Given the description of an element on the screen output the (x, y) to click on. 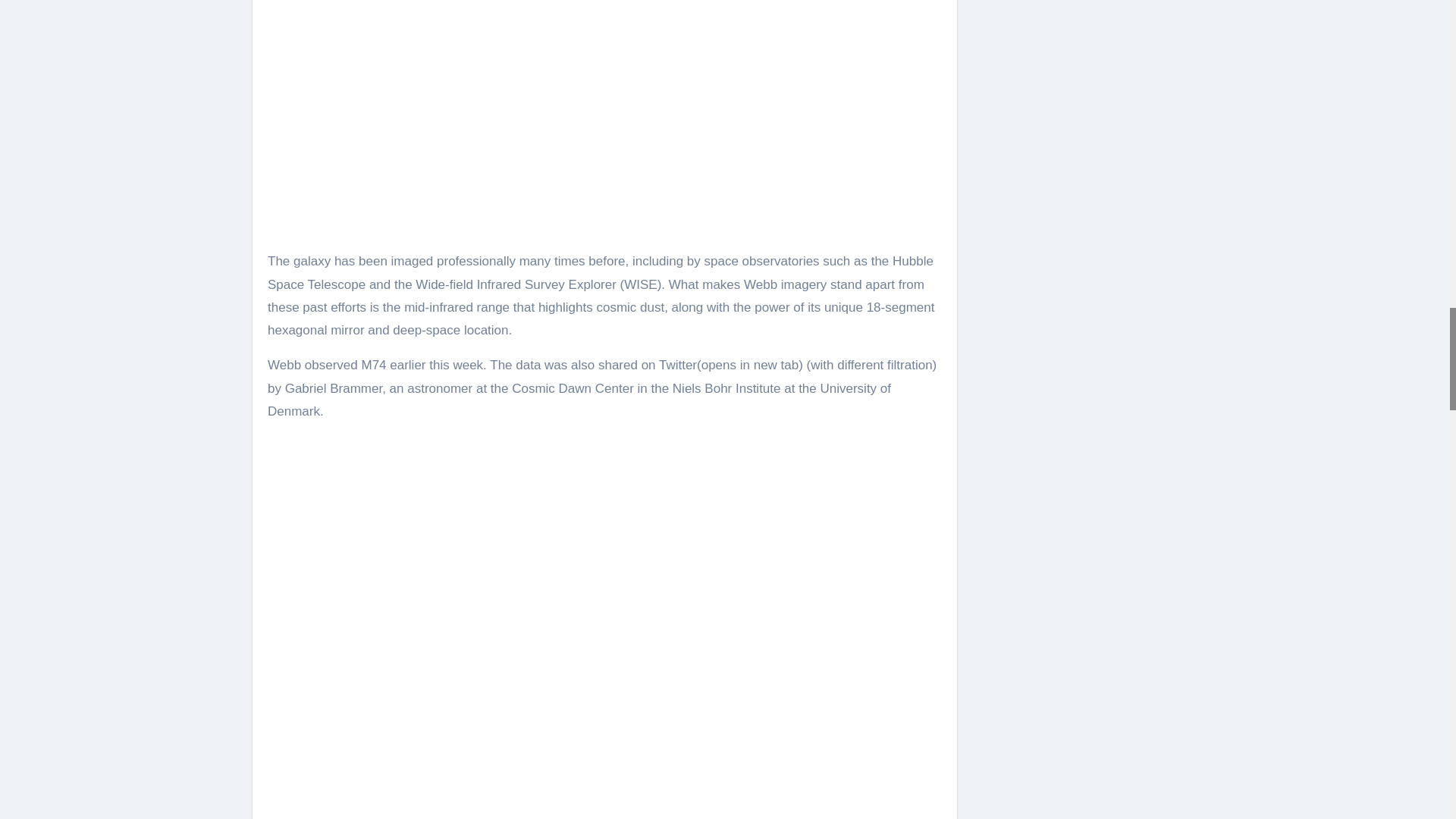
Advertisement (604, 762)
